Given the description of an element on the screen output the (x, y) to click on. 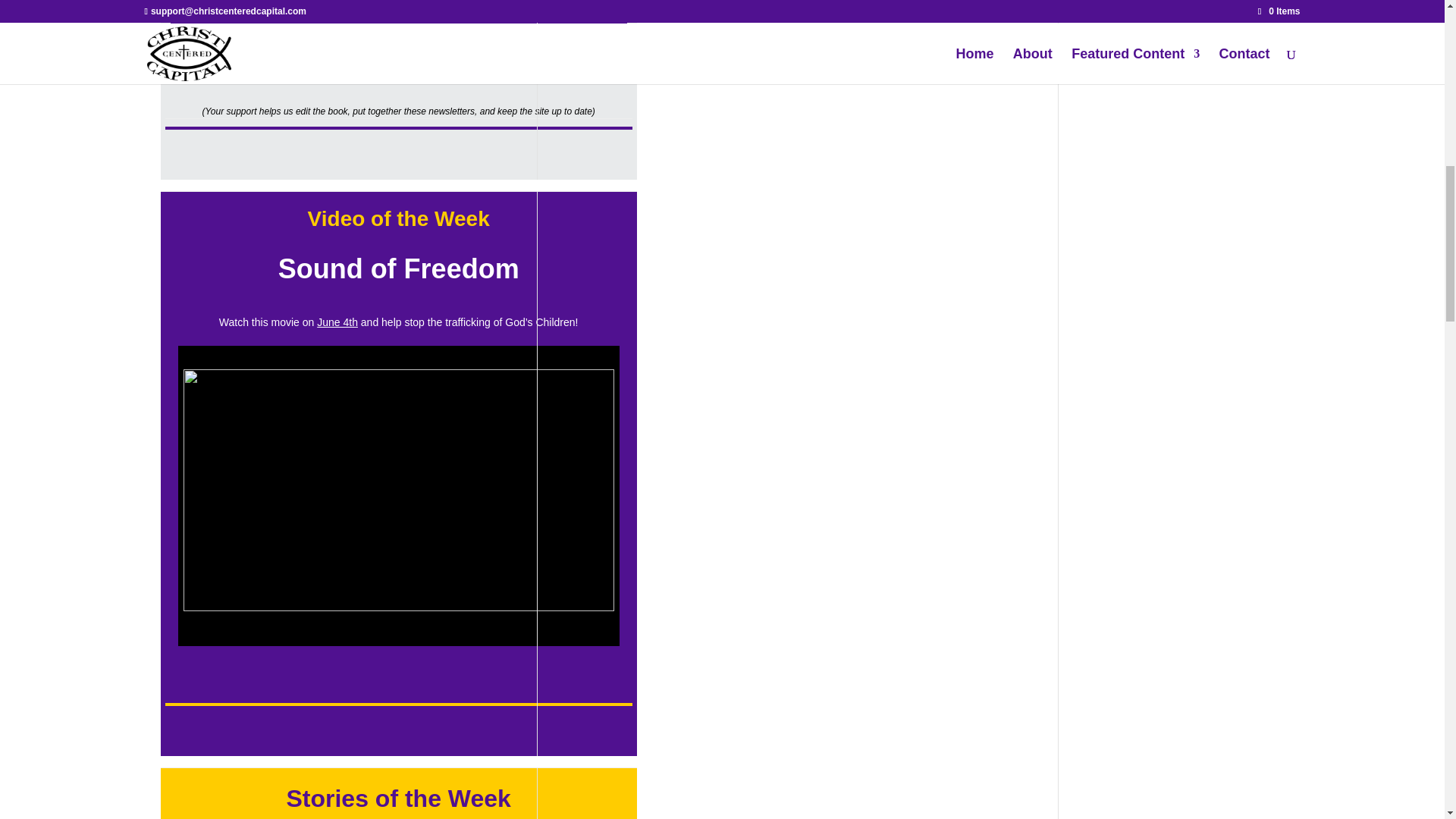
Support C3 (398, 15)
